Given the description of an element on the screen output the (x, y) to click on. 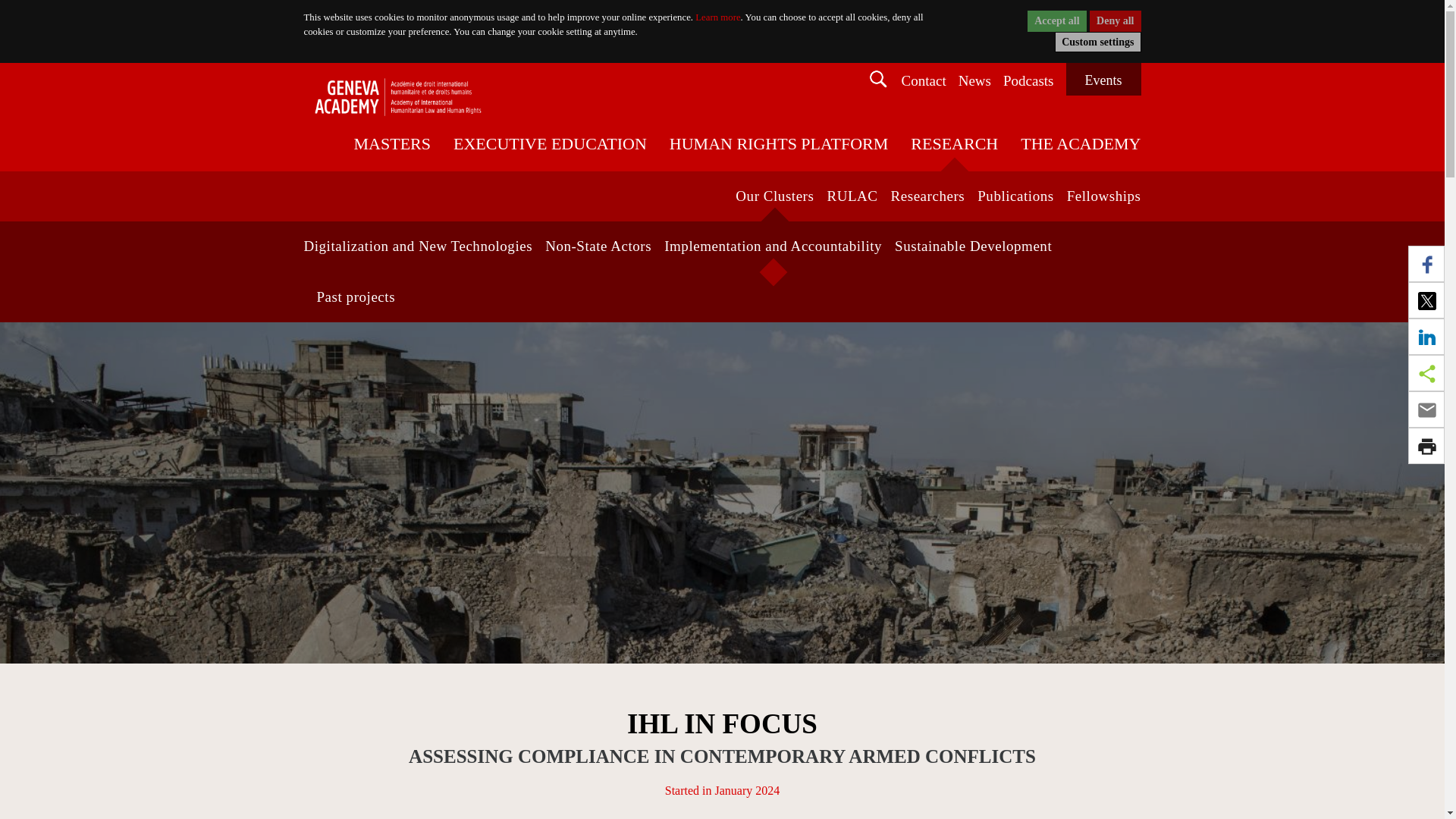
Accept all (1056, 20)
Learn more (717, 17)
Deny all (1114, 20)
Custom settings (1097, 42)
